Given the description of an element on the screen output the (x, y) to click on. 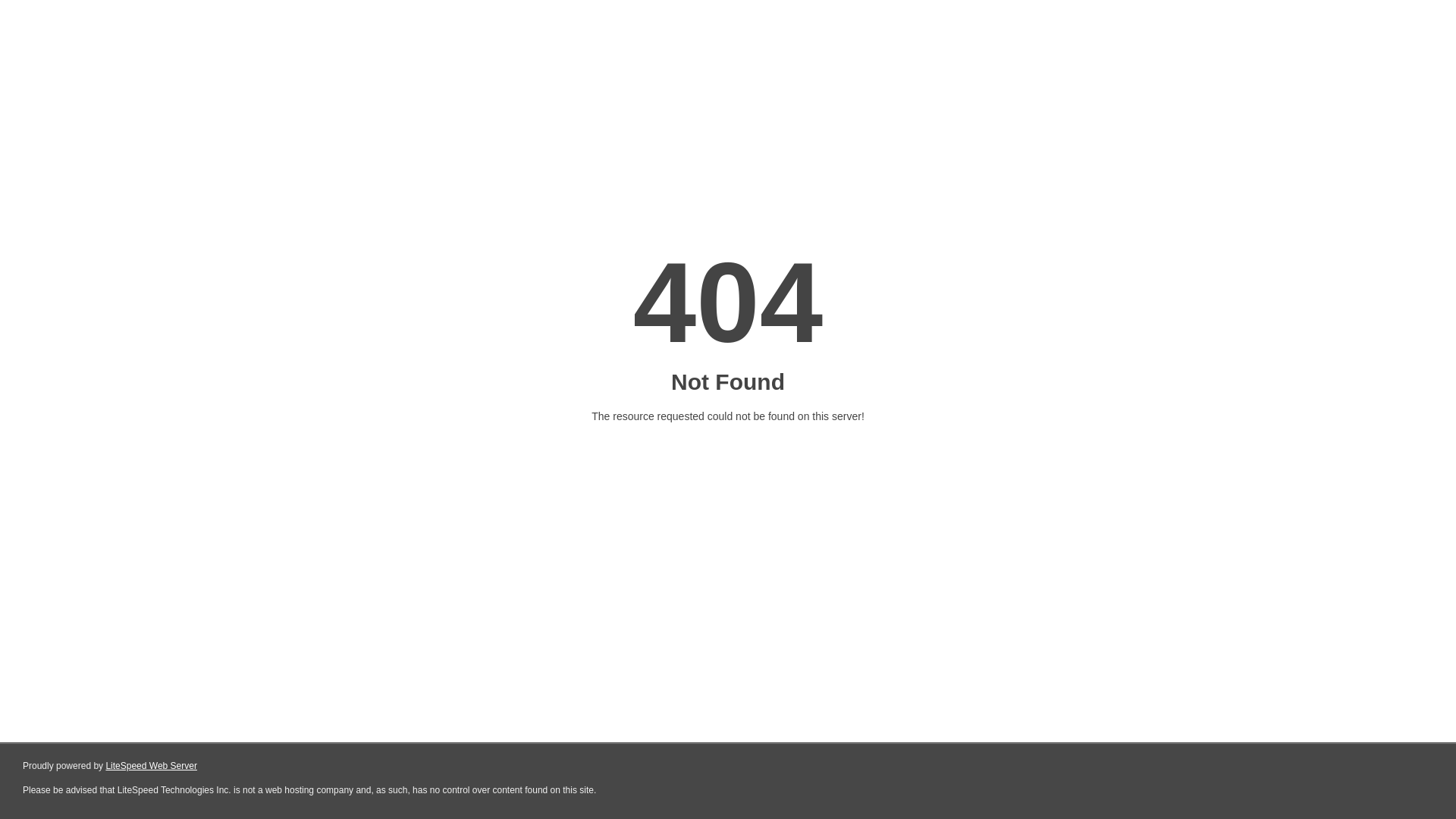
LiteSpeed Web Server Element type: text (151, 765)
